Given the description of an element on the screen output the (x, y) to click on. 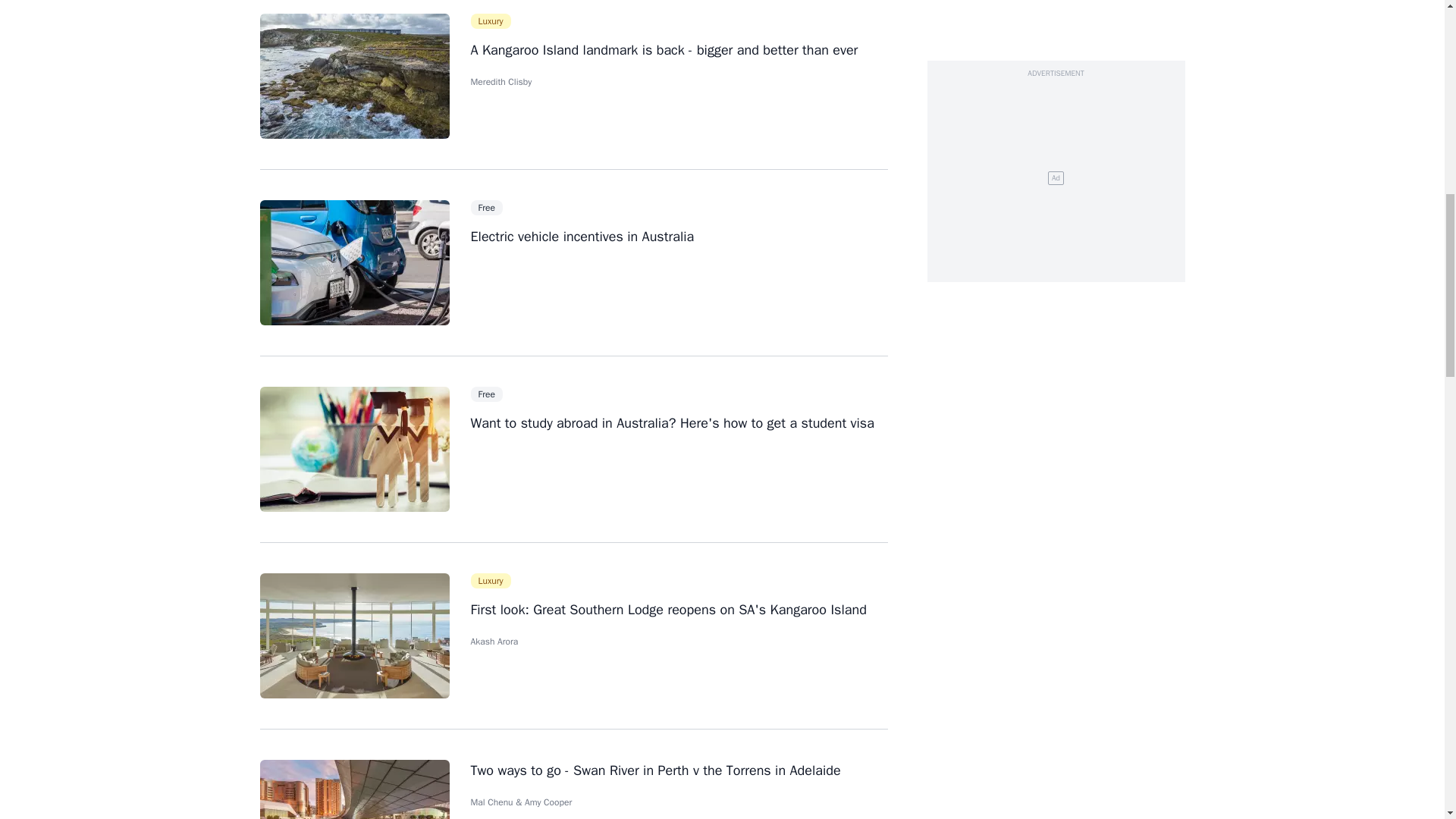
Great Southern Lodge. (353, 635)
